Given the description of an element on the screen output the (x, y) to click on. 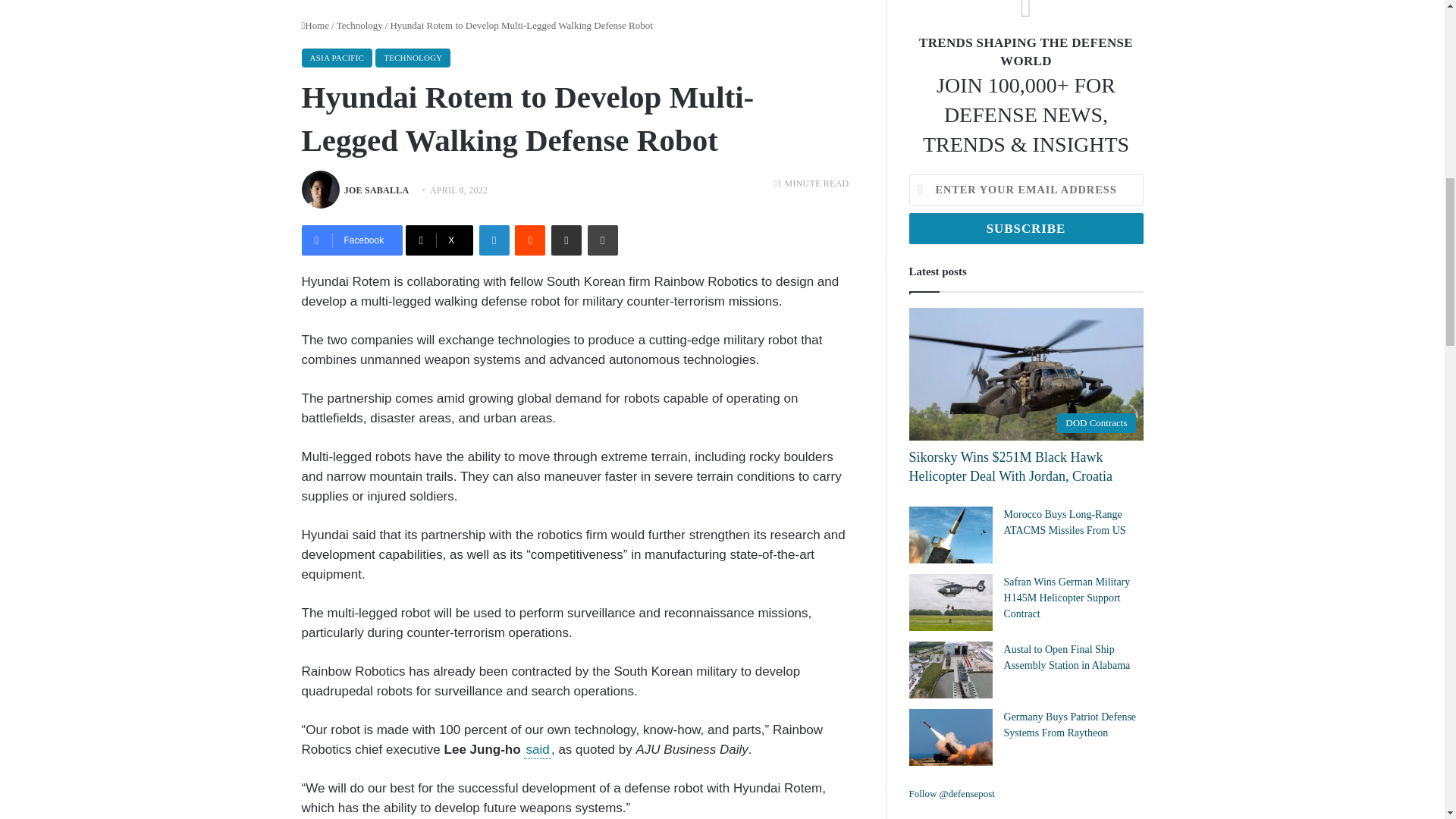
Home (315, 25)
Joe Saballa (376, 190)
ASIA PACIFIC (336, 57)
JOE SABALLA (376, 190)
Reddit (529, 240)
LinkedIn (494, 240)
X (439, 240)
LinkedIn (494, 240)
TECHNOLOGY (412, 57)
Print (602, 240)
Facebook (352, 240)
Subscribe (1025, 228)
Reddit (529, 240)
X (439, 240)
Facebook (352, 240)
